Given the description of an element on the screen output the (x, y) to click on. 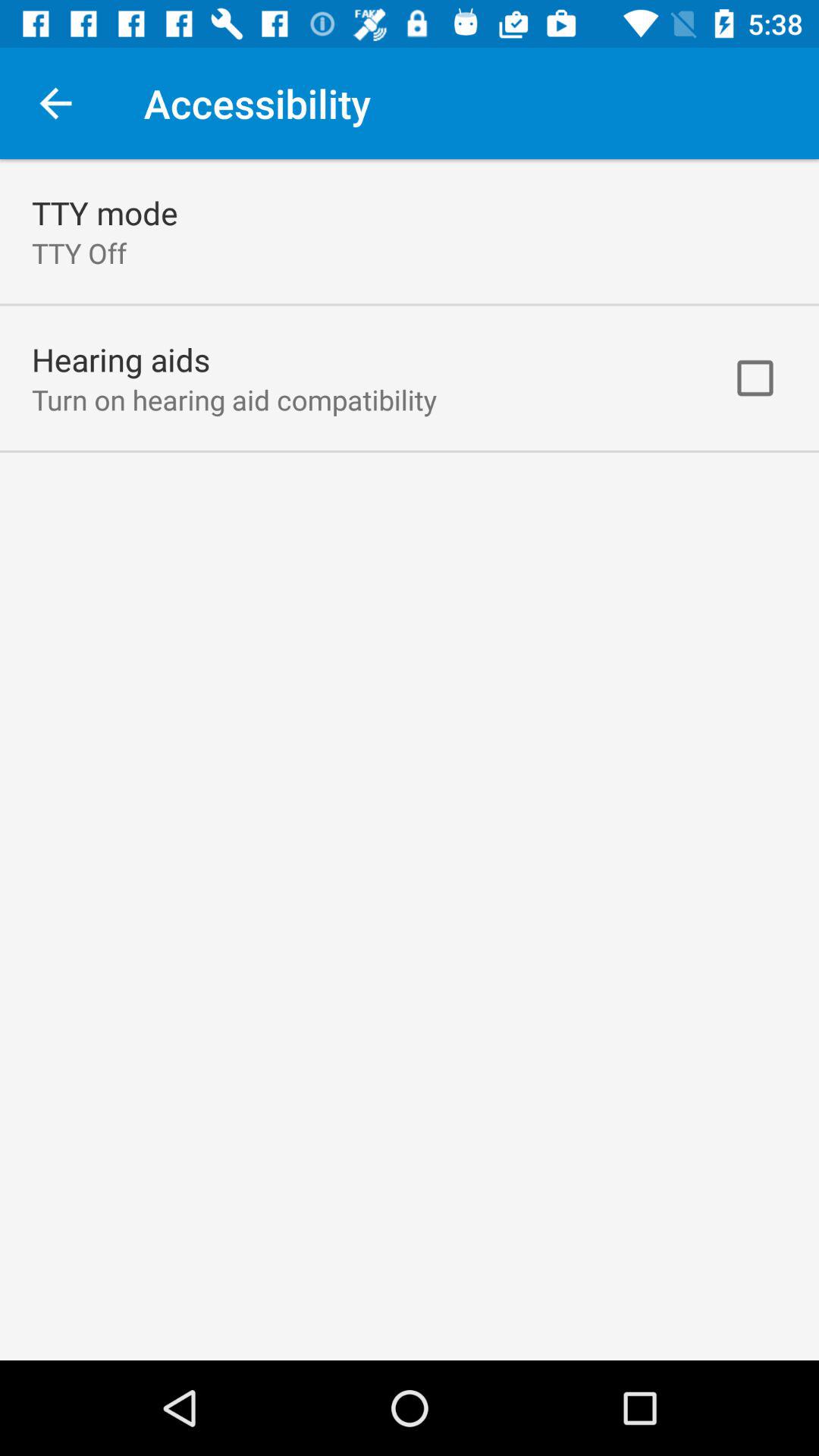
launch app below the hearing aids (233, 399)
